Given the description of an element on the screen output the (x, y) to click on. 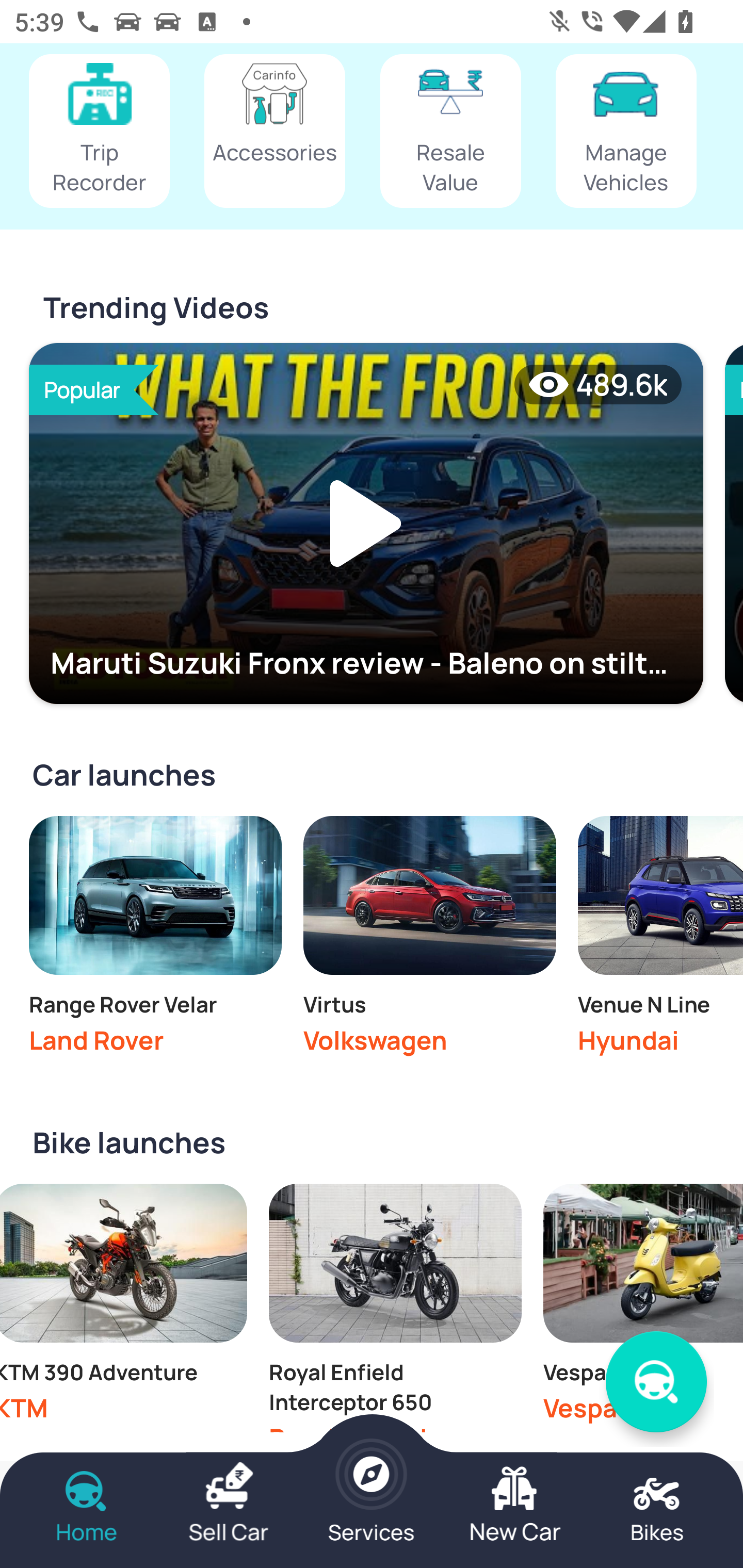
Trip Recorder (98, 131)
Accessories (274, 131)
Resale
Value (450, 131)
Manage
Vehicles (625, 131)
Range Rover Velar Land Rover (154, 939)
Virtus Volkswagen (429, 939)
Venue N Line Hyundai (660, 939)
KTM 390 Adventure KTM (123, 1307)
Royal Enfield Interceptor 650 Royal Enfield (394, 1307)
Vespa ZX Vespa (643, 1307)
